Given the description of an element on the screen output the (x, y) to click on. 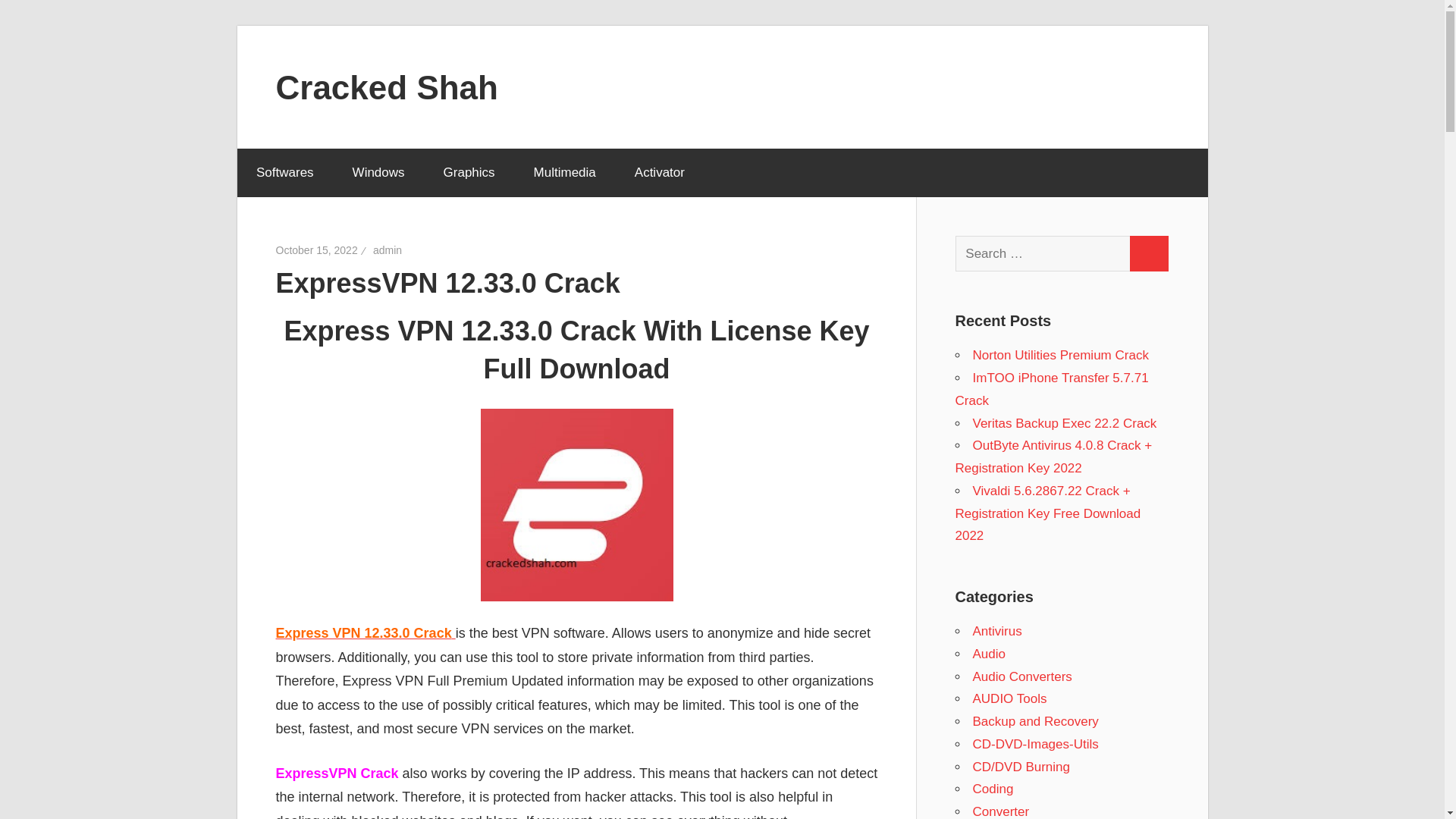
admin (386, 250)
Windows (378, 172)
Activator (658, 172)
View all posts by admin (386, 250)
Search for: (1043, 253)
8:26 am (317, 250)
October 15, 2022 (317, 250)
Cracked Shah (386, 86)
Express VPN 12.33.0 Crack  (365, 632)
Softwares (284, 172)
Multimedia (563, 172)
Graphics (468, 172)
